Given the description of an element on the screen output the (x, y) to click on. 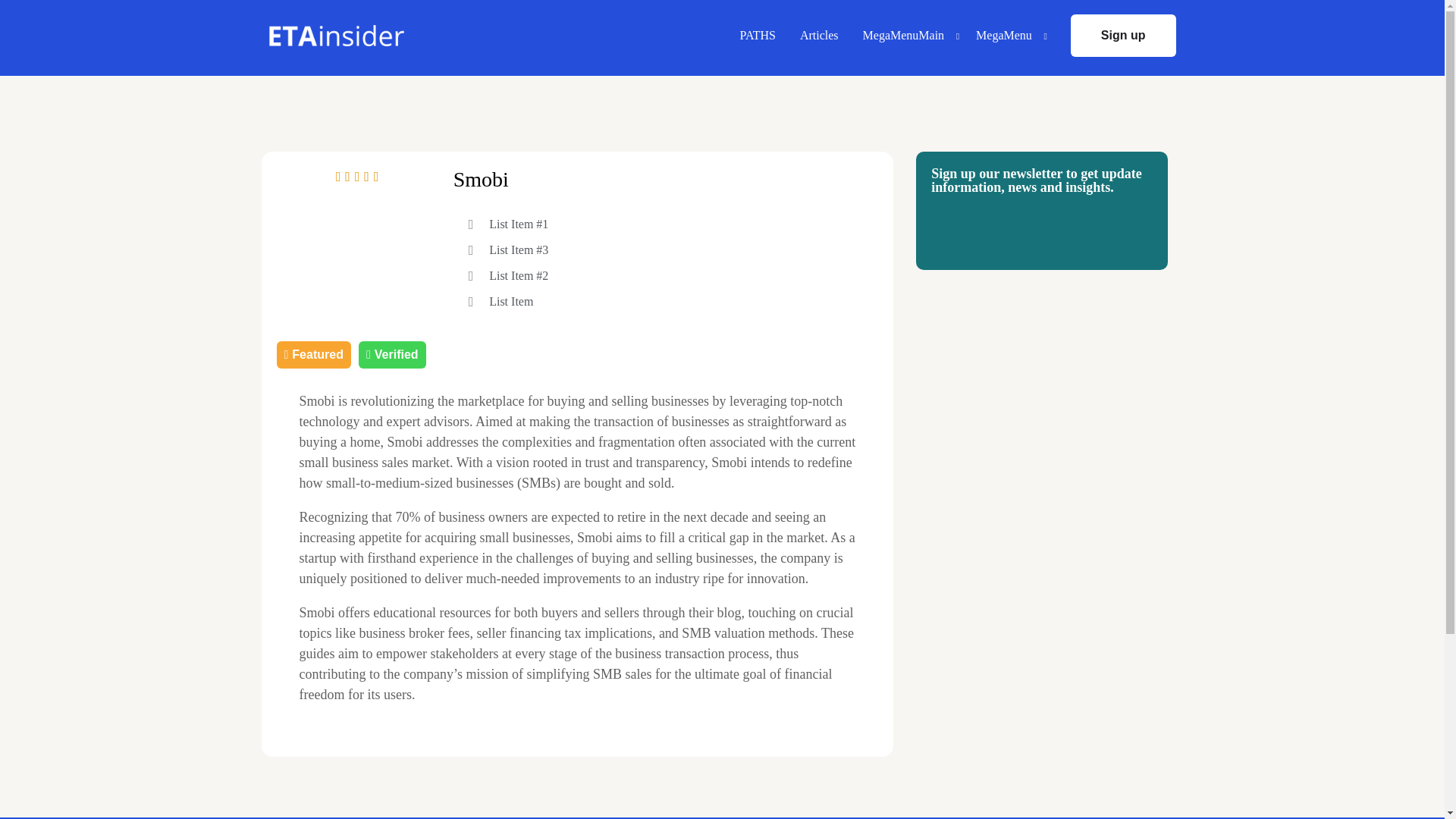
Featured (313, 354)
Sign up (1123, 35)
Verified (392, 354)
MegaMenu (1007, 35)
Articles (818, 35)
MegaMenuMain (906, 35)
